Given the description of an element on the screen output the (x, y) to click on. 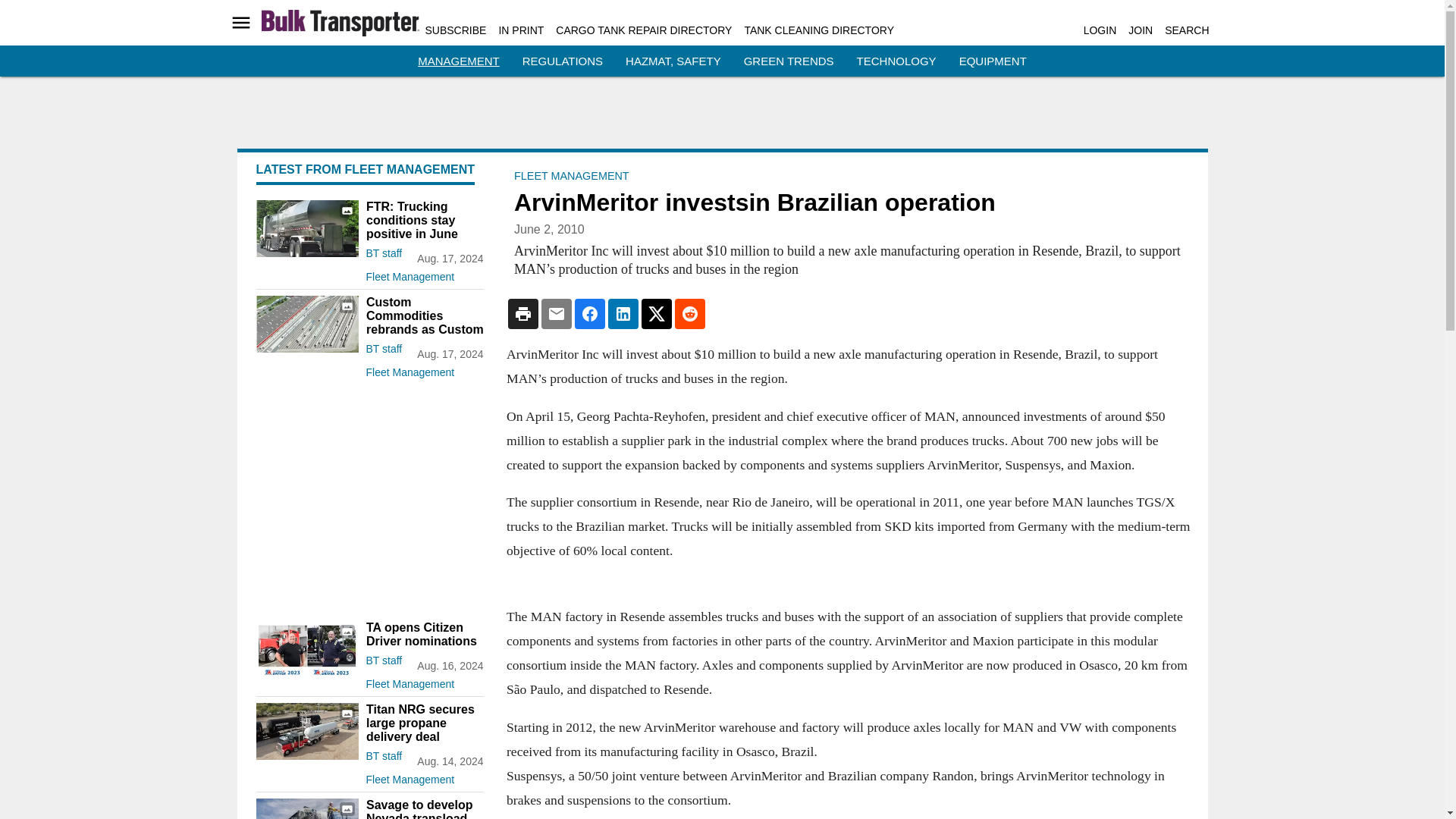
SUBSCRIBE (455, 30)
TANK CLEANING DIRECTORY (818, 30)
REGULATIONS (562, 60)
JOIN (1140, 30)
MANAGEMENT (458, 60)
CARGO TANK REPAIR DIRECTORY (644, 30)
EQUIPMENT (992, 60)
SEARCH (1186, 30)
IN PRINT (520, 30)
TECHNOLOGY (896, 60)
